Given the description of an element on the screen output the (x, y) to click on. 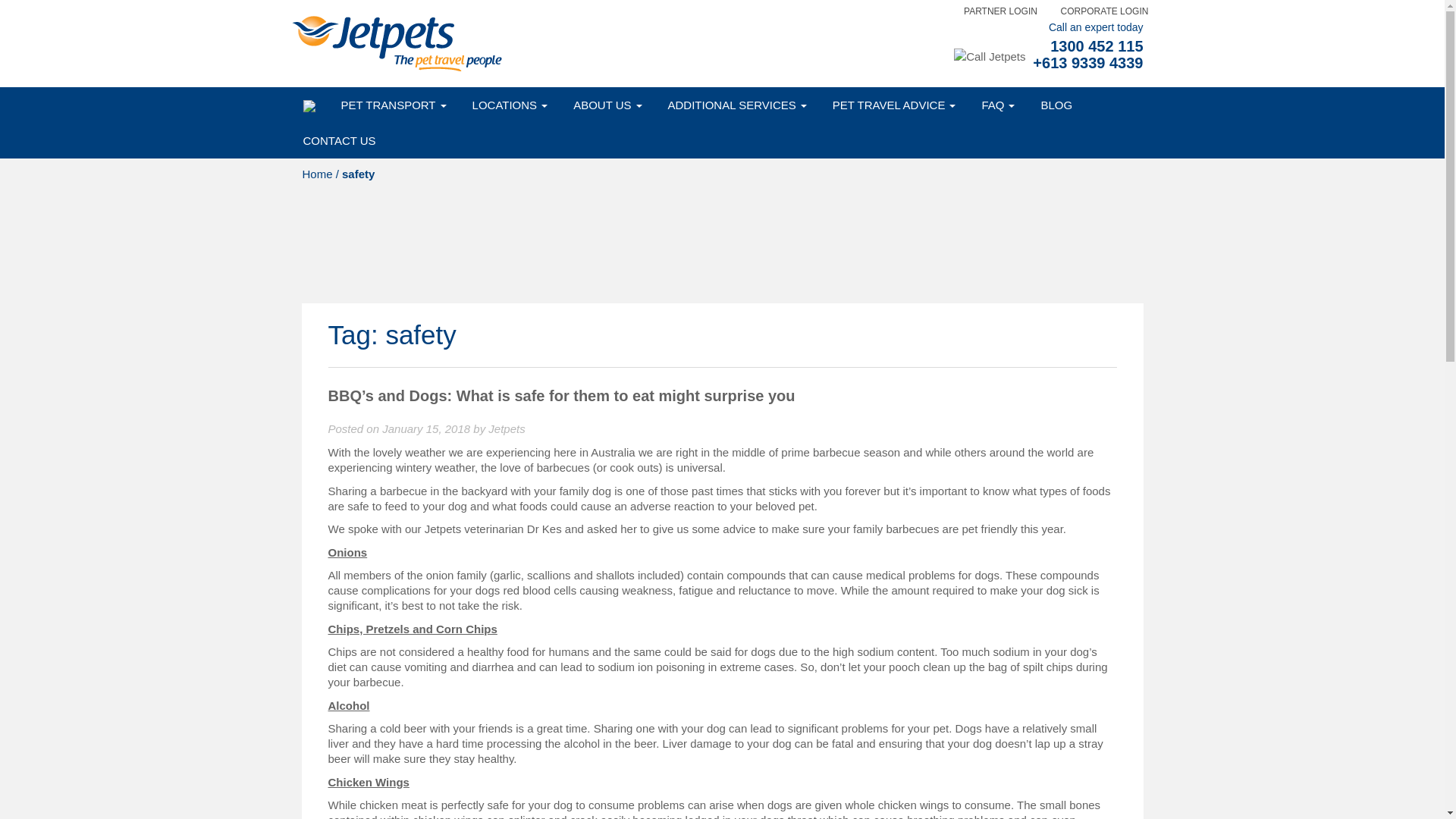
PARTNER LOGIN (1000, 11)
CORPORATE LOGIN (1104, 11)
1300 452 115 (1095, 45)
LOCATIONS (510, 104)
Jetpets AU (394, 42)
Corporate Login (1104, 11)
PET TRANSPORT (392, 104)
Partner Login (1000, 11)
